Given the description of an element on the screen output the (x, y) to click on. 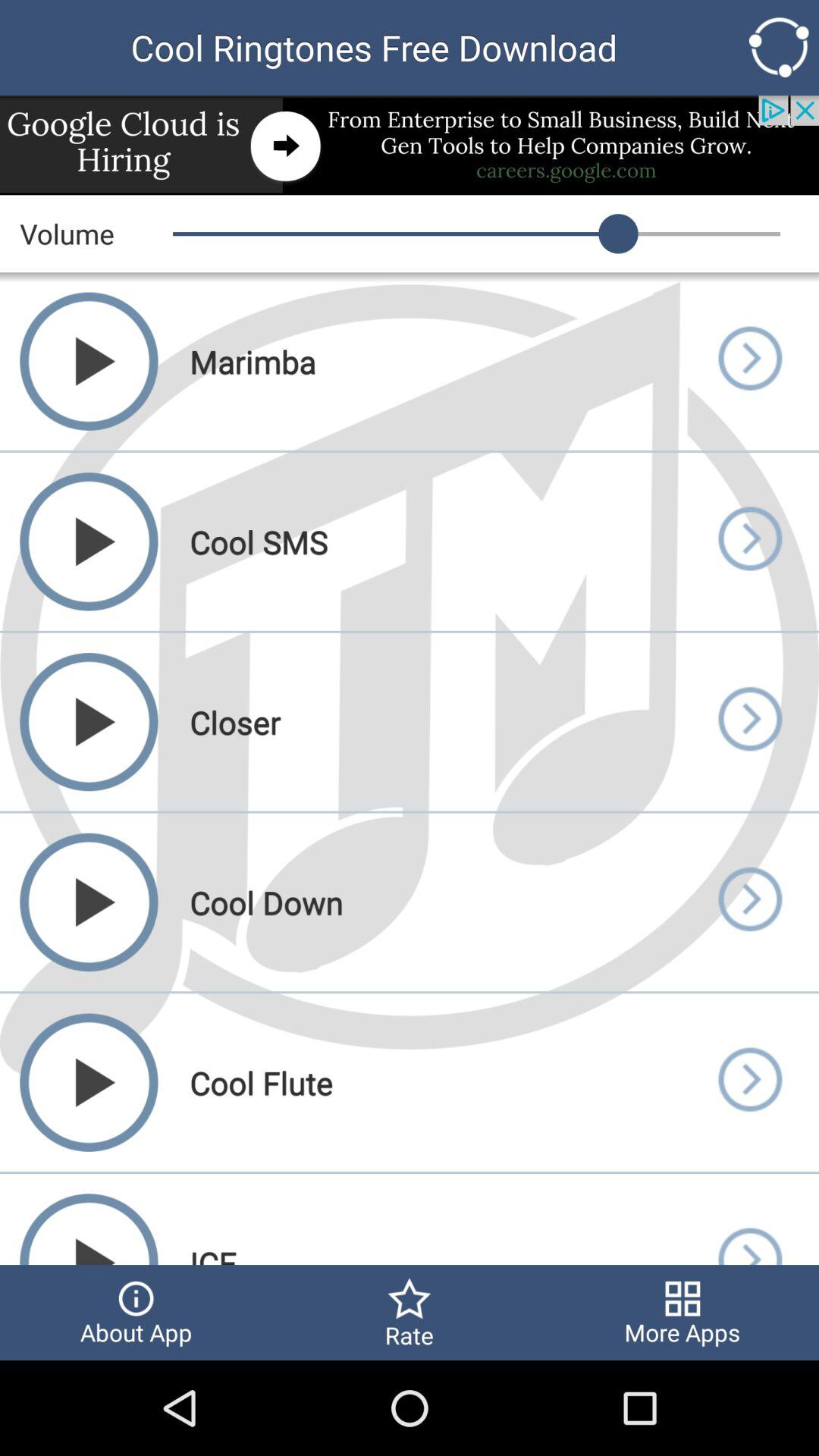
play song (749, 722)
